Given the description of an element on the screen output the (x, y) to click on. 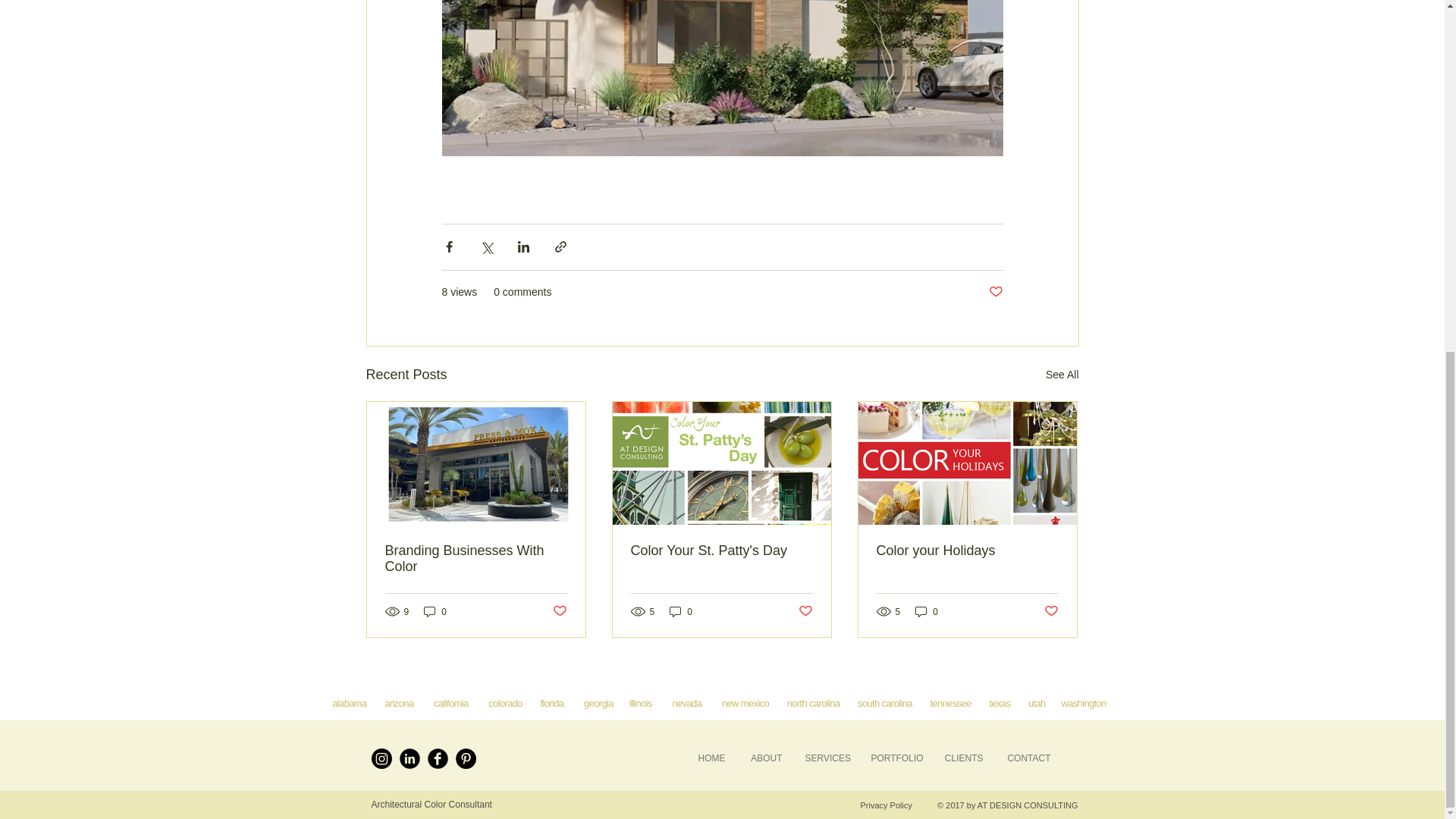
See All (1061, 374)
0 (435, 611)
Branding Businesses With Color (476, 558)
0 (681, 611)
Post not marked as liked (558, 611)
Color your Holidays (967, 550)
Post not marked as liked (995, 292)
Post not marked as liked (804, 611)
Color Your St. Patty's Day (721, 550)
0 (926, 611)
SERVICES (826, 757)
HOME (710, 757)
ABOUT (764, 757)
Post not marked as liked (1050, 611)
